Given the description of an element on the screen output the (x, y) to click on. 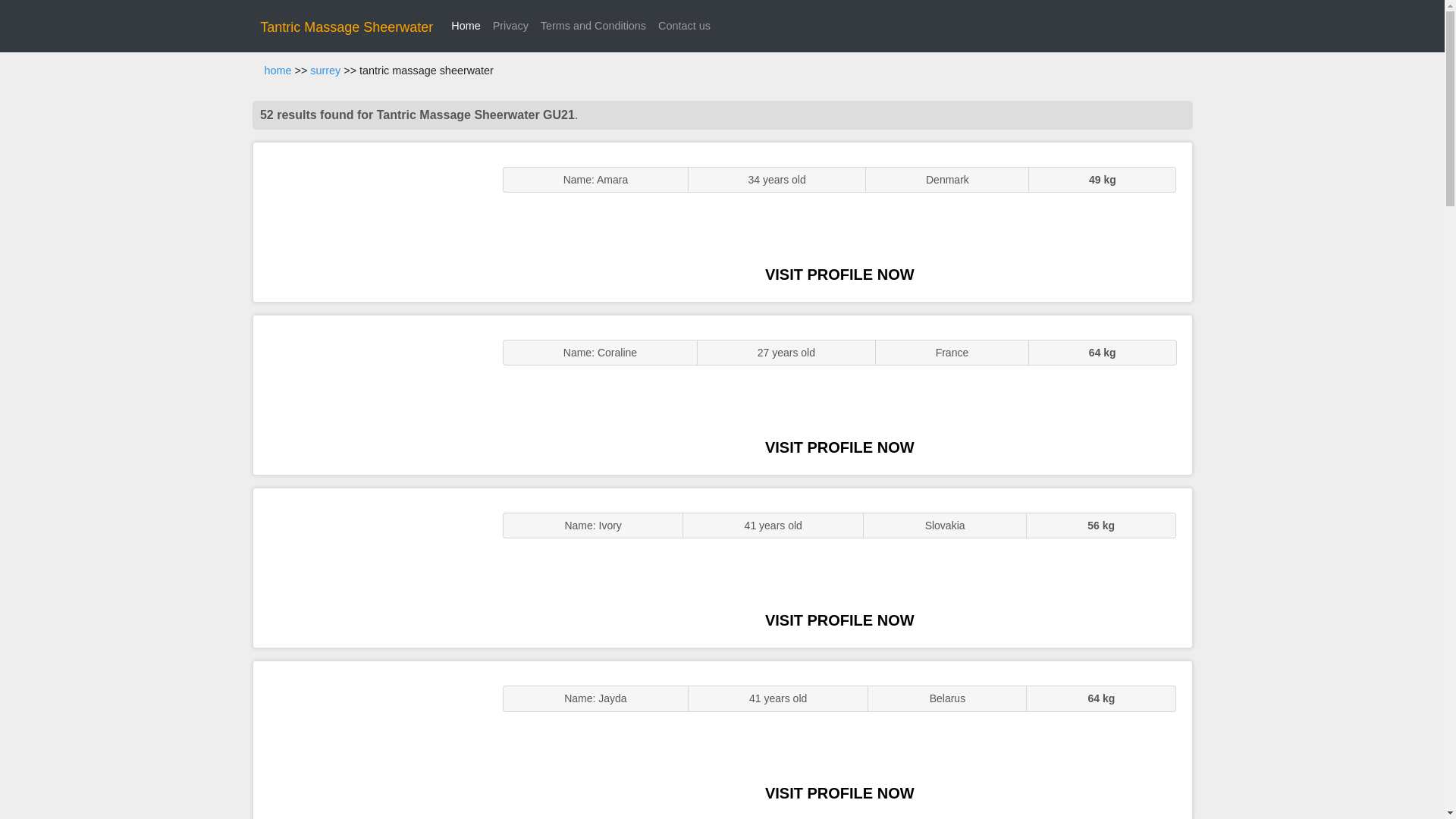
Privacy (510, 25)
Sluts (370, 739)
Tantric Massage Sheerwater (346, 27)
VISIT PROFILE NOW (839, 274)
VISIT PROFILE NOW (839, 619)
 ENGLISH STUNNER (370, 222)
Terms and Conditions (593, 25)
GFE (370, 395)
surrey (325, 70)
VISIT PROFILE NOW (839, 446)
Sexy (370, 567)
home (277, 70)
Contact us (684, 25)
VISIT PROFILE NOW (839, 792)
